Given the description of an element on the screen output the (x, y) to click on. 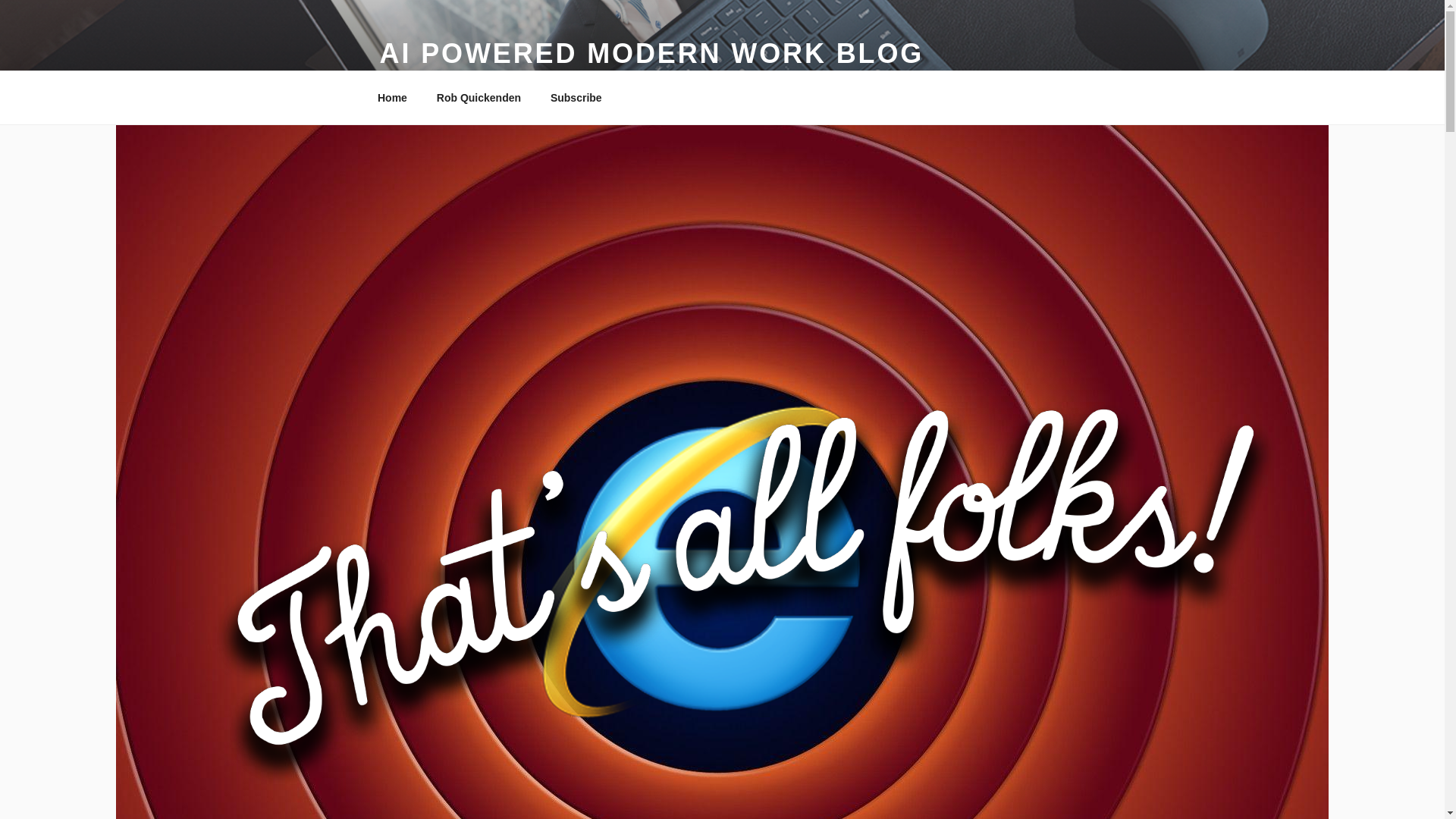
Subscribe (575, 97)
Home (392, 97)
Rob Quickenden (478, 97)
AI POWERED MODERN WORK BLOG (650, 52)
